Given the description of an element on the screen output the (x, y) to click on. 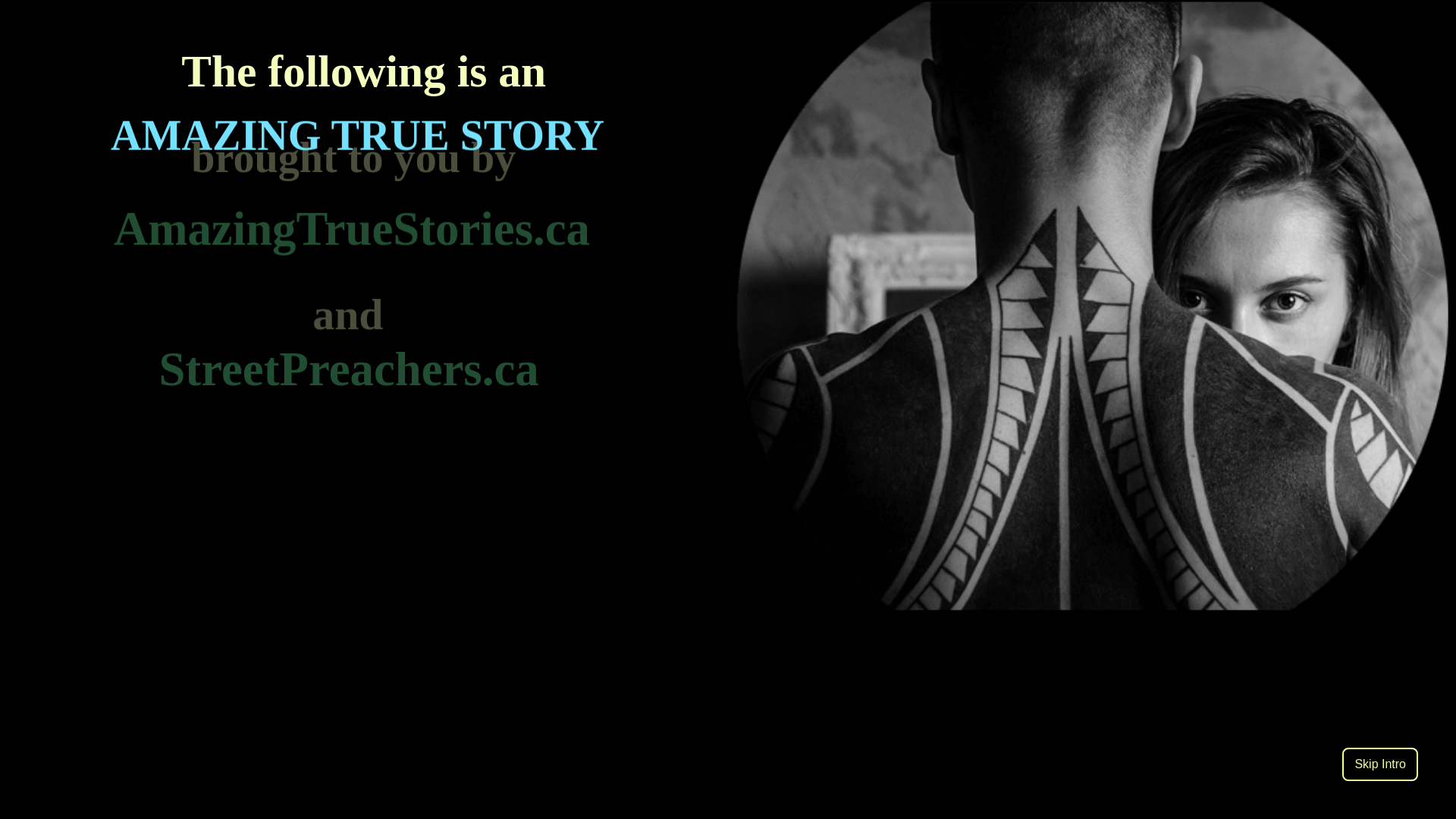
Skip Intro Element type: text (1379, 763)
